Given the description of an element on the screen output the (x, y) to click on. 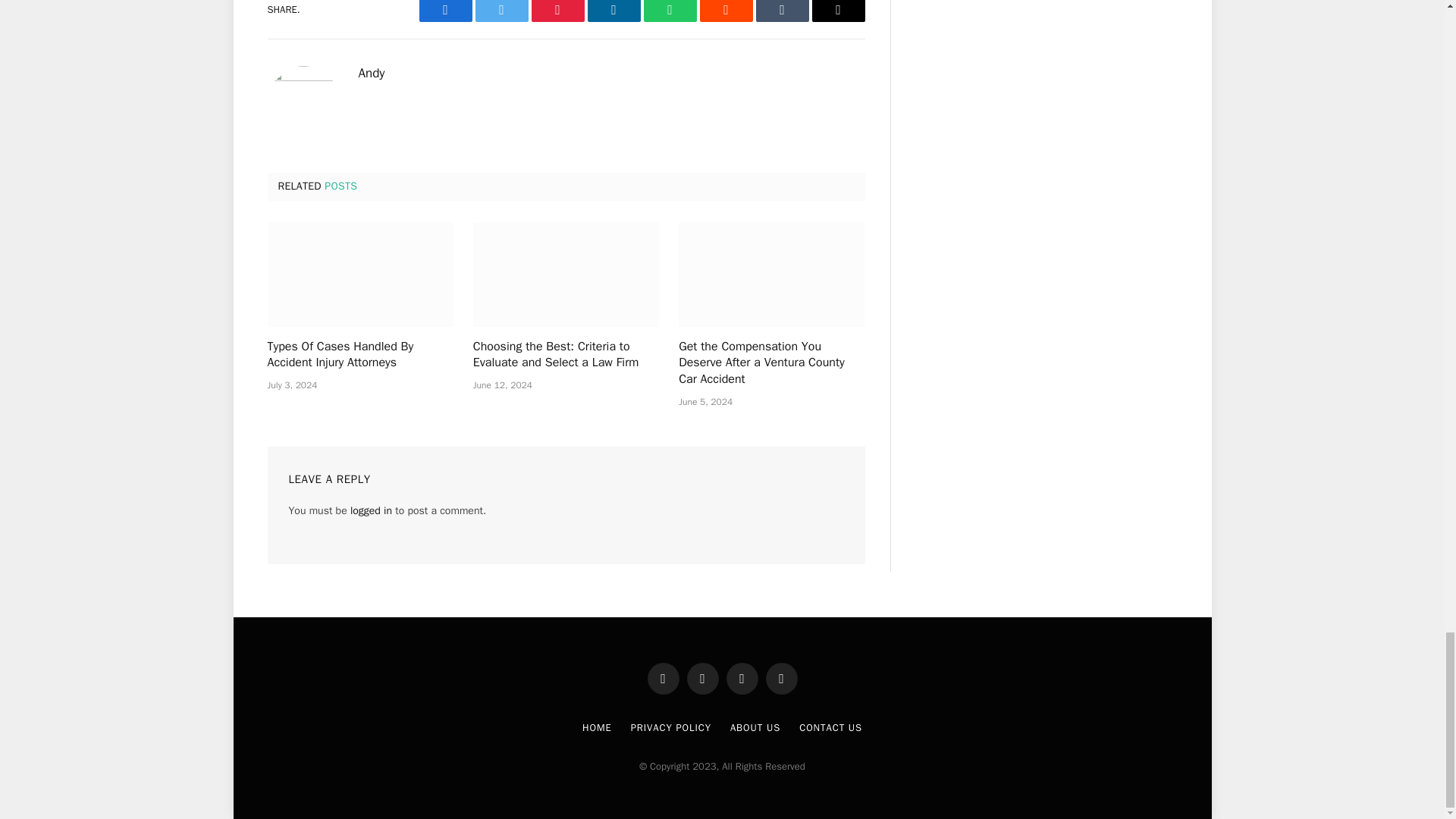
Facebook (445, 11)
Pinterest (557, 11)
Twitter (500, 11)
Share on Facebook (445, 11)
LinkedIn (613, 11)
